Given the description of an element on the screen output the (x, y) to click on. 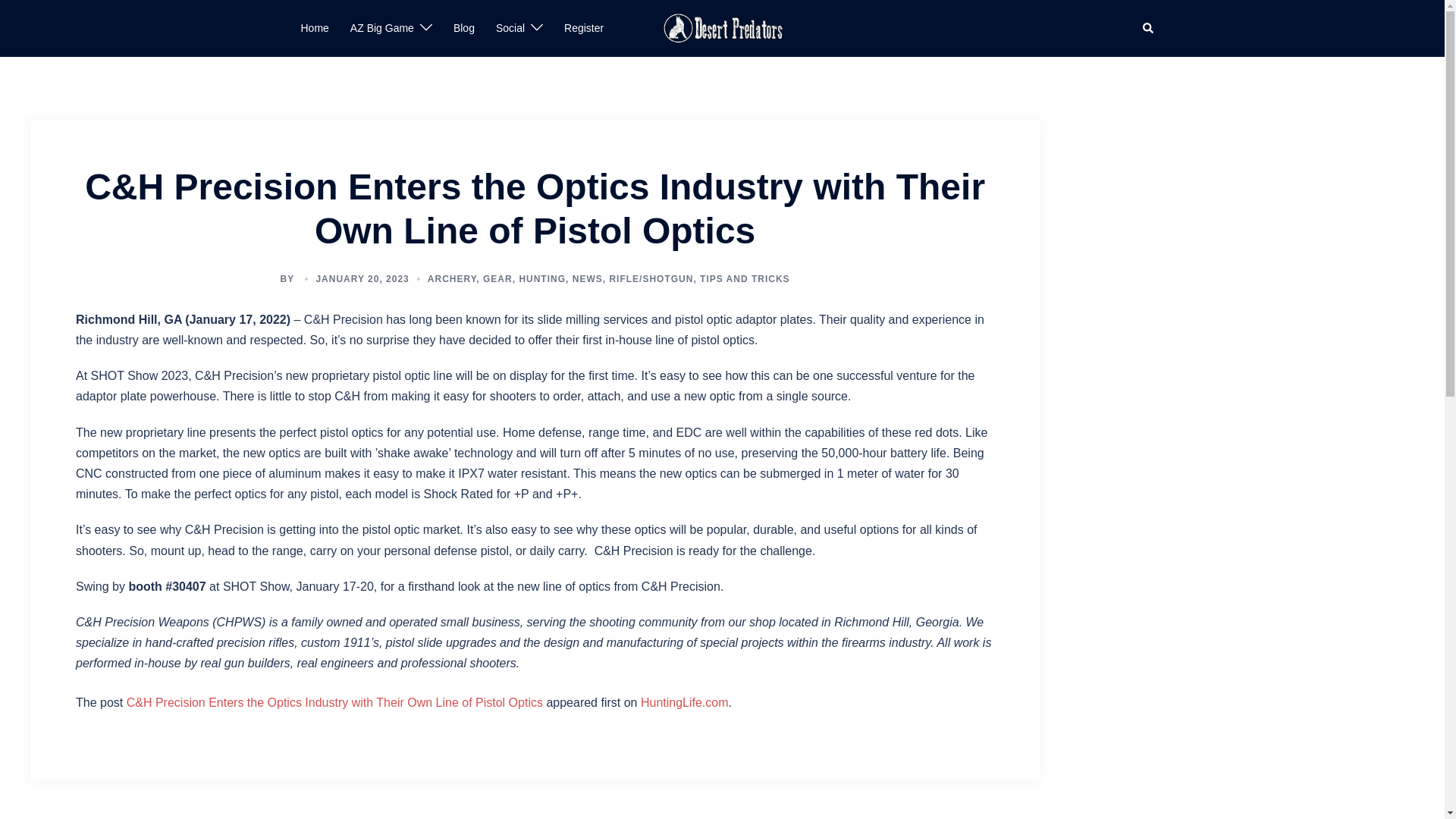
Desert Predators (721, 27)
Search (1147, 28)
AZ Big Game (381, 28)
Social (510, 28)
Register (584, 28)
Home (314, 28)
Blog (463, 28)
